Given the description of an element on the screen output the (x, y) to click on. 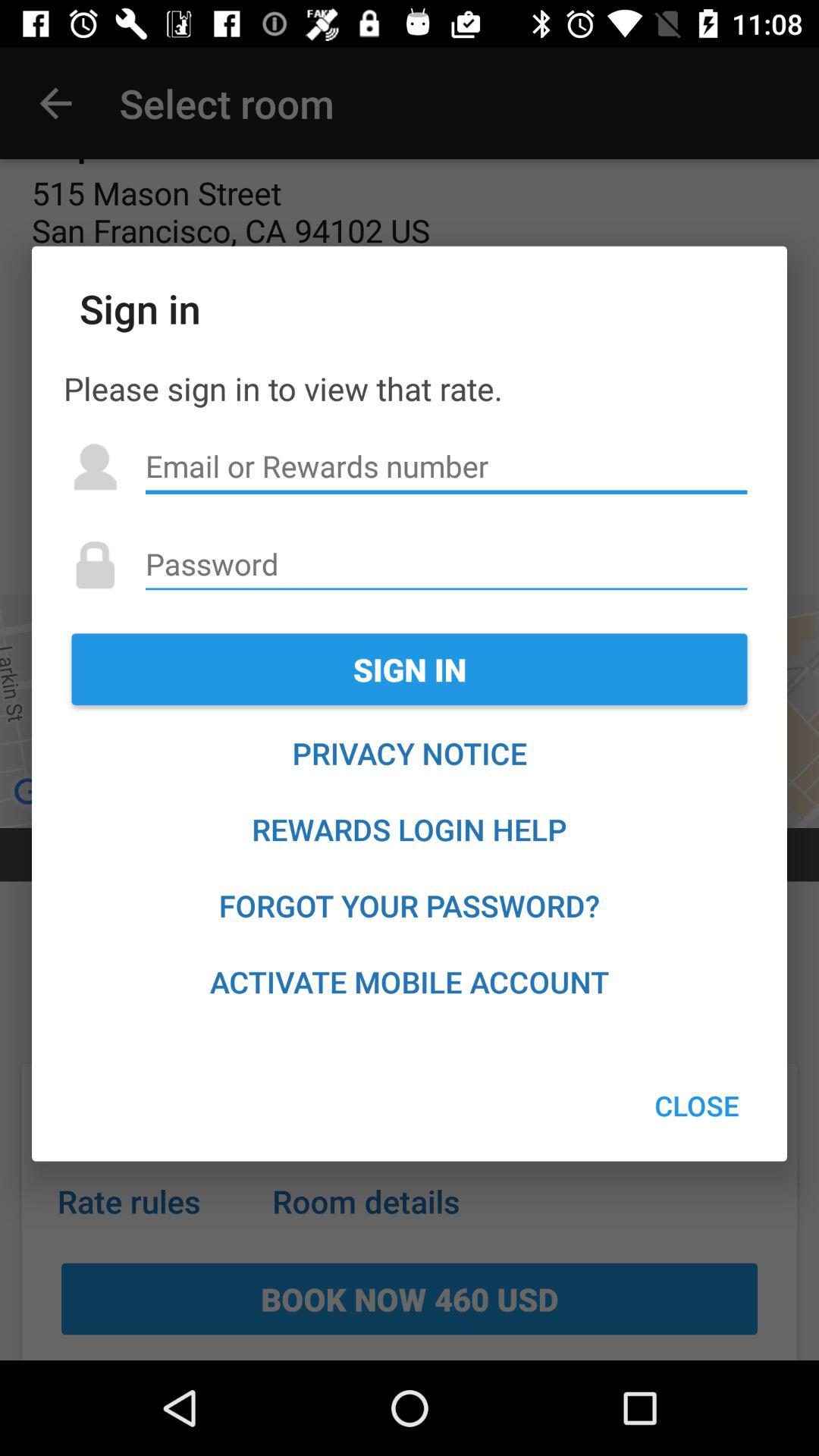
scroll to close (696, 1105)
